Given the description of an element on the screen output the (x, y) to click on. 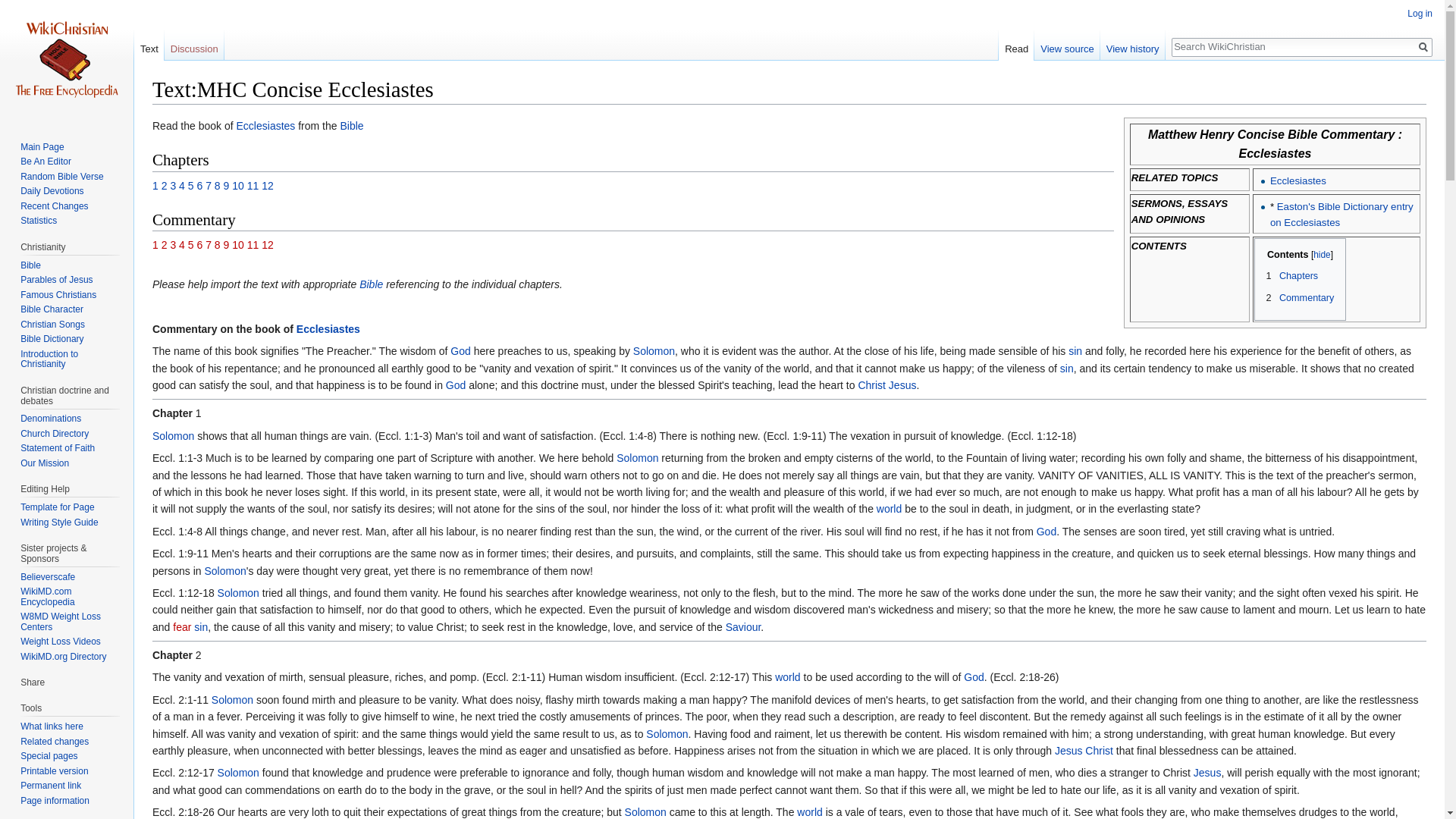
Bible (370, 284)
10 (237, 185)
Go (1423, 46)
Ecclesiastes 12 (267, 185)
Holy Bible (350, 125)
Go (1423, 46)
Ecclesiastes (328, 328)
Bible (350, 125)
10 (237, 244)
